Given the description of an element on the screen output the (x, y) to click on. 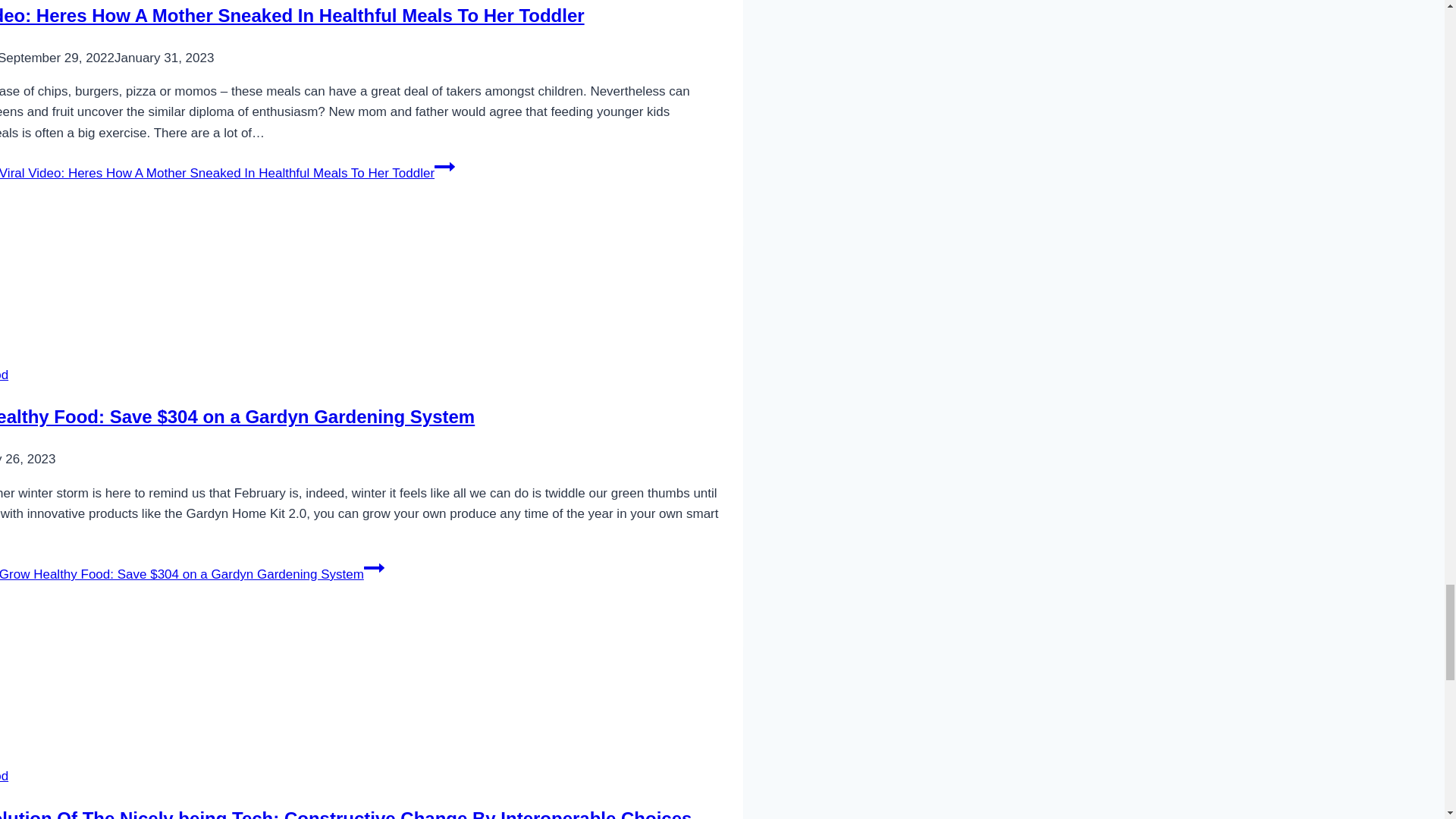
Continue (374, 567)
Healthy Food (4, 775)
Healthy Food (4, 374)
Continue (443, 166)
Grow Healthy Food: Save 4 on a Gardyn Gardening System (244, 277)
